Given the description of an element on the screen output the (x, y) to click on. 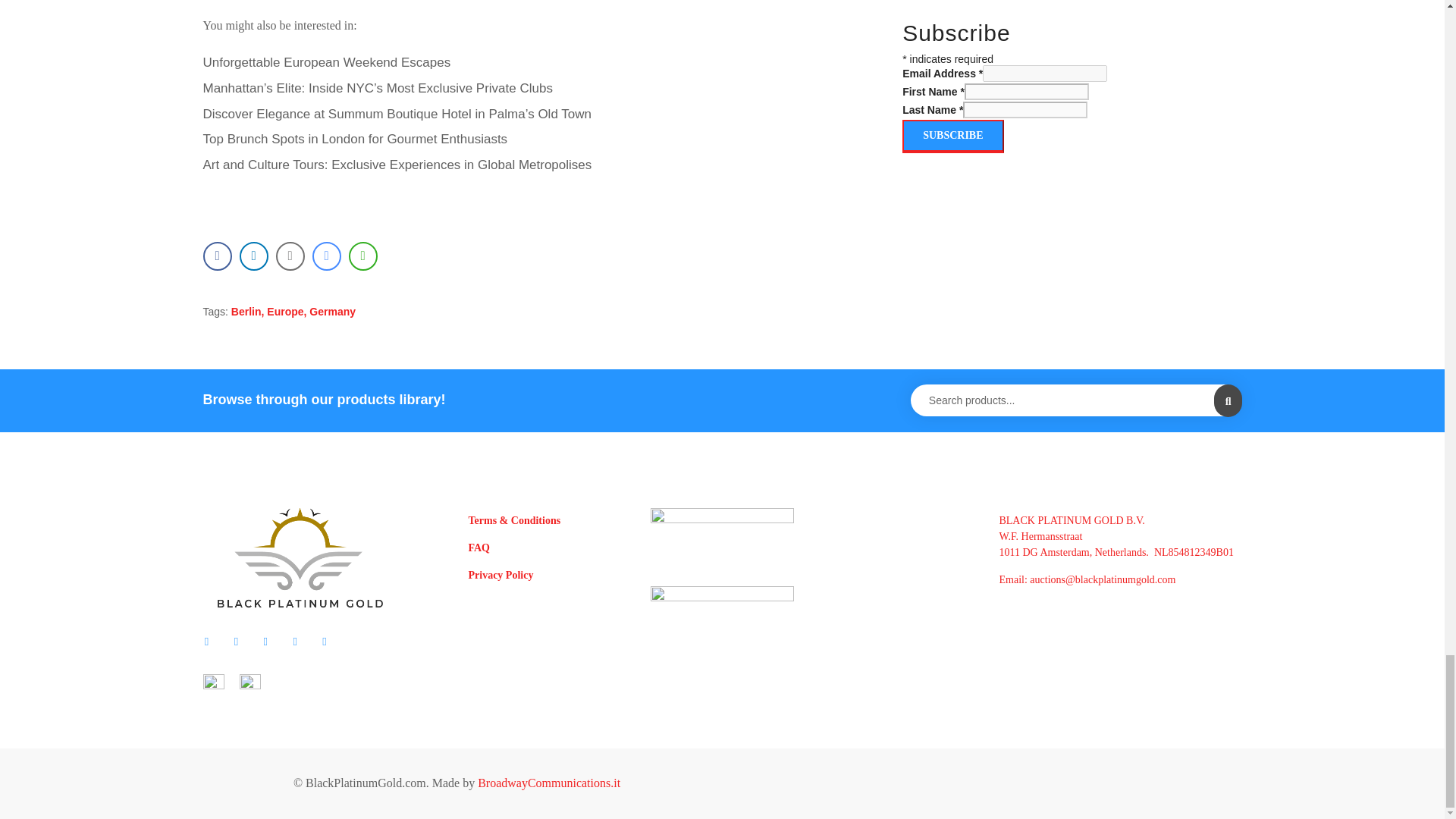
Subscribe (952, 136)
